Given the description of an element on the screen output the (x, y) to click on. 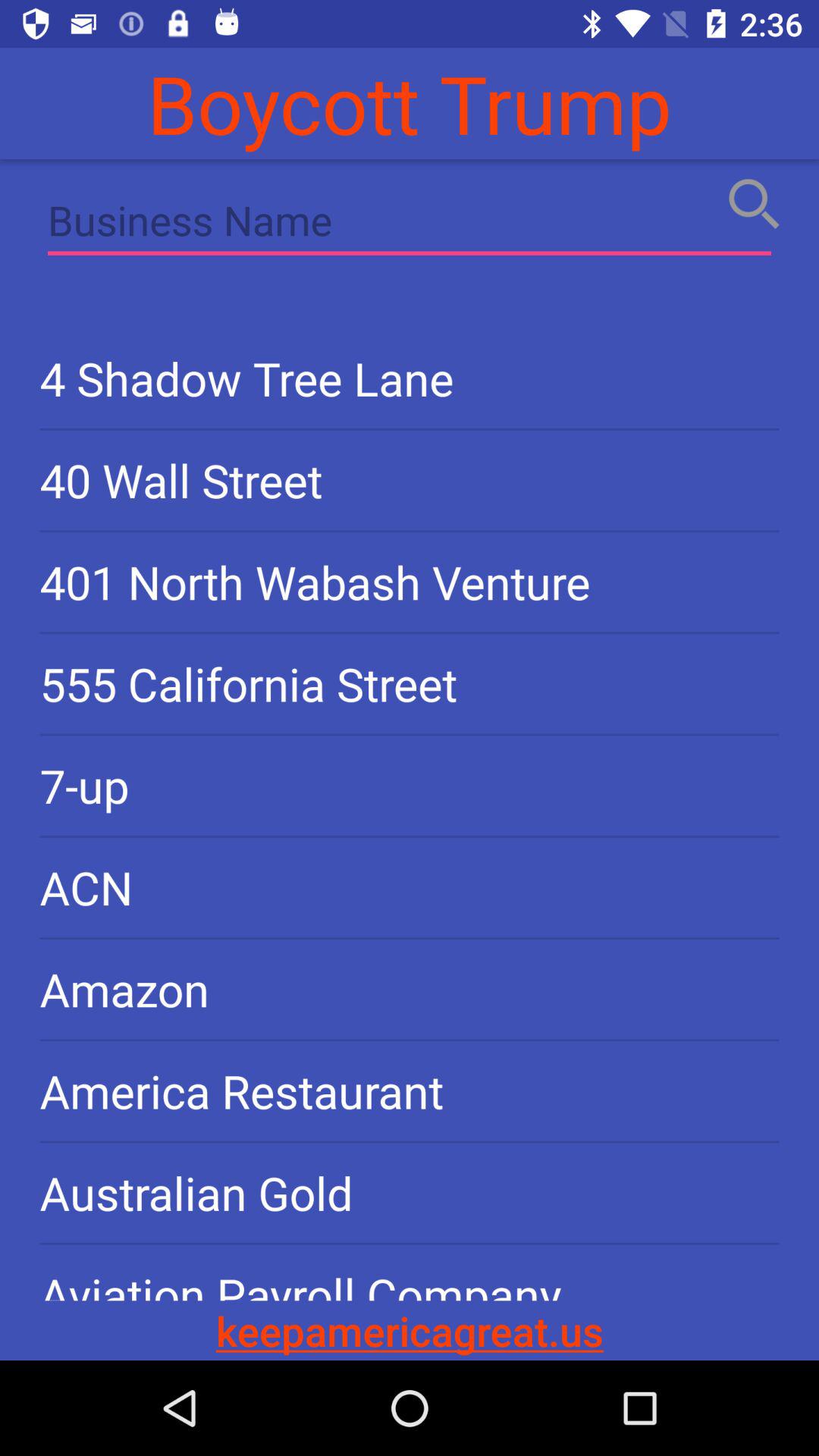
scroll until amazon item (409, 989)
